Given the description of an element on the screen output the (x, y) to click on. 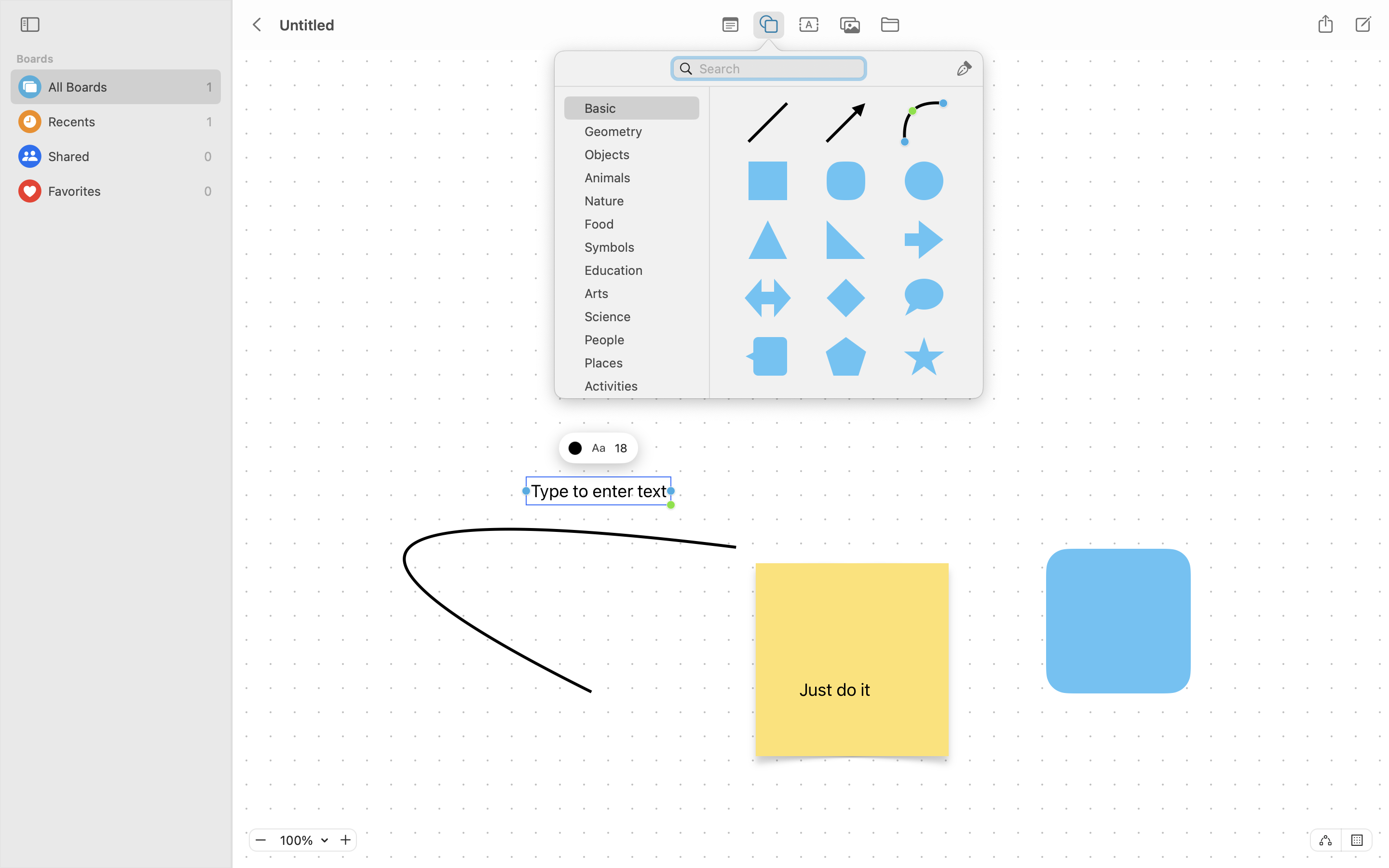
Activities Element type: AXStaticText (636, 389)
Education Element type: AXStaticText (636, 273)
All Boards Element type: AXStaticText (124, 86)
Geometry Element type: AXStaticText (636, 134)
Boards Element type: AXStaticText (121, 58)
